Given the description of an element on the screen output the (x, y) to click on. 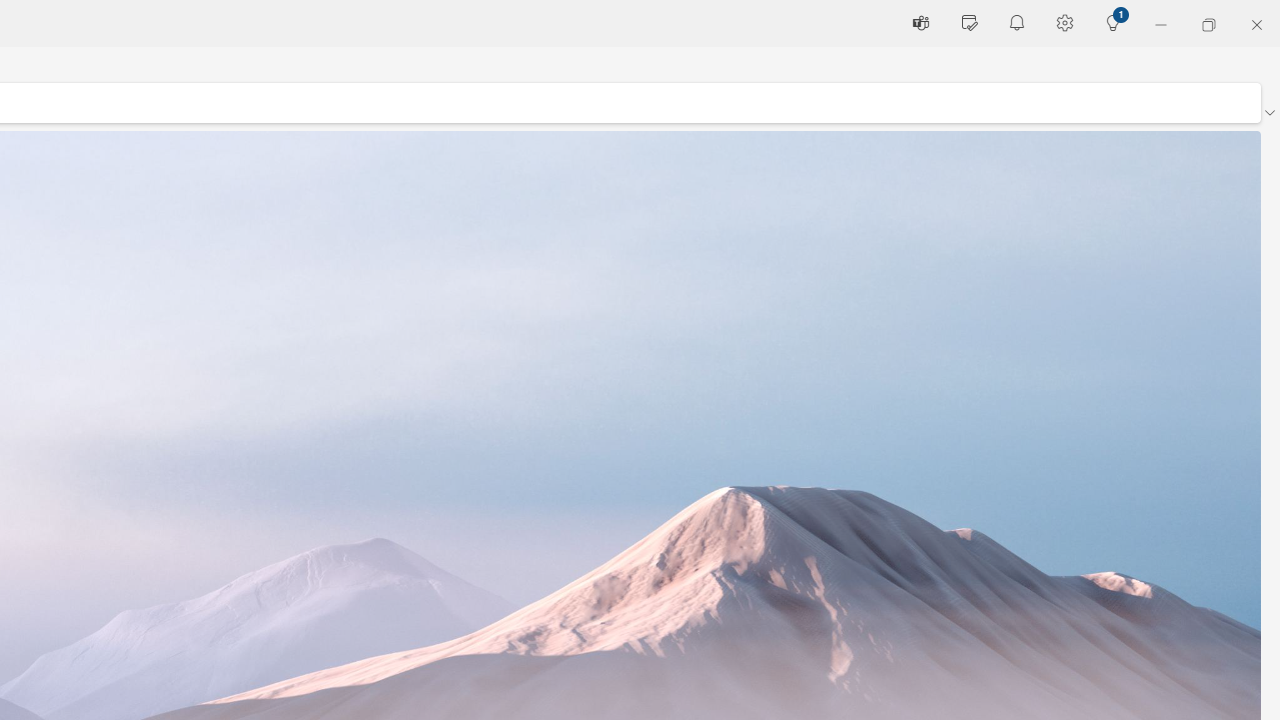
Ribbon display options (1269, 112)
